Given the description of an element on the screen output the (x, y) to click on. 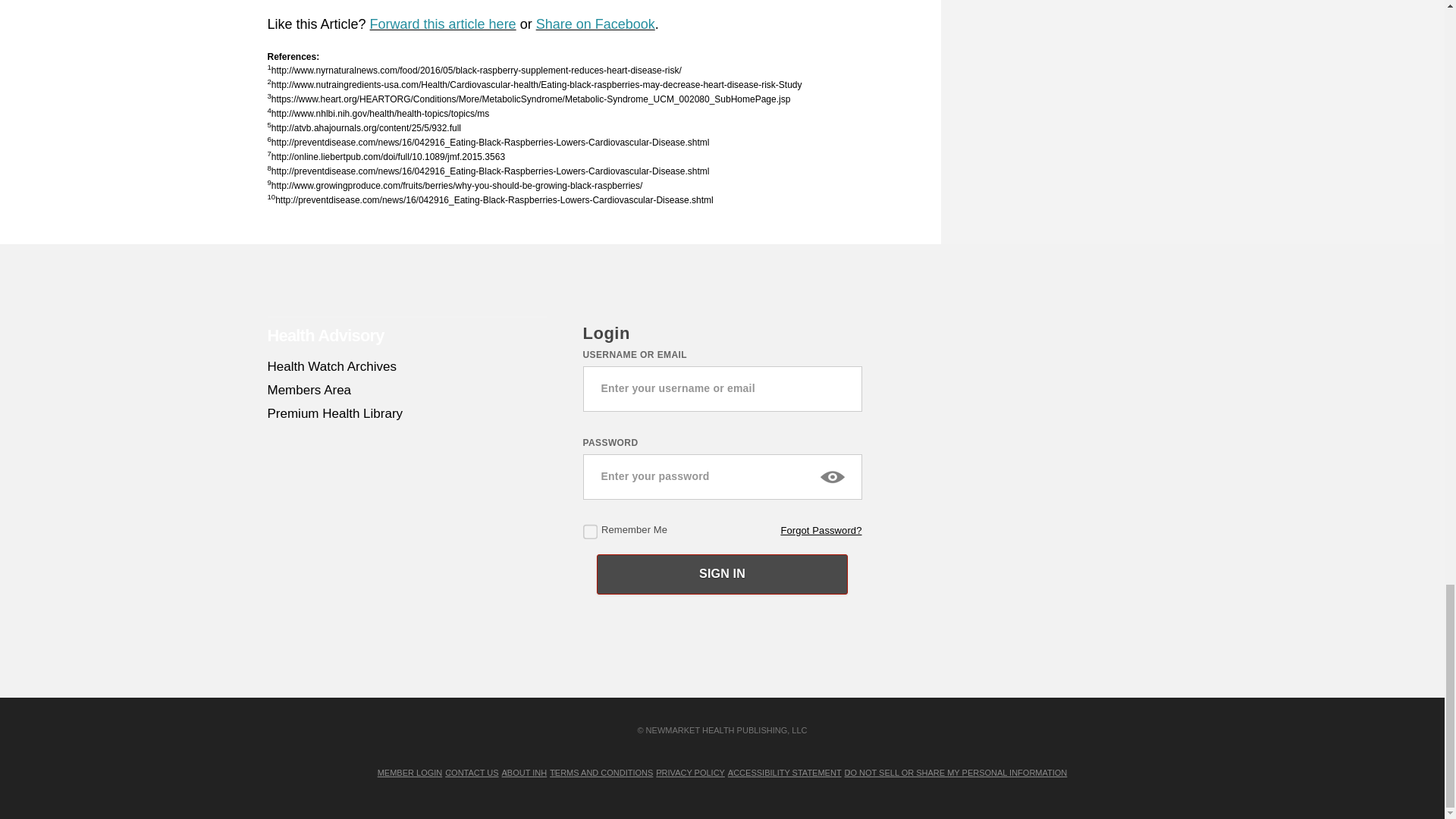
Sign In (721, 574)
